Given the description of an element on the screen output the (x, y) to click on. 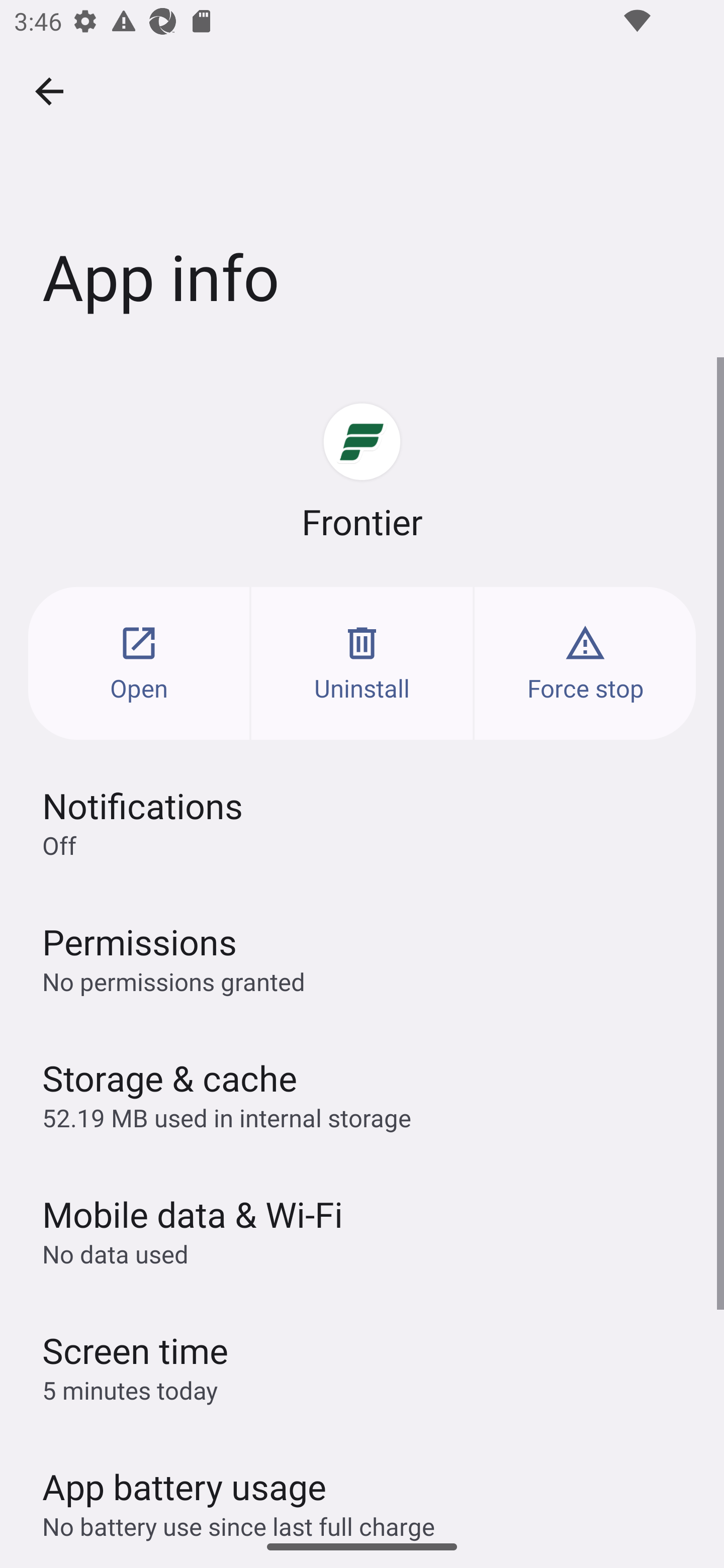
Navigate up (49, 91)
Open (138, 663)
Uninstall (361, 663)
Force stop (584, 663)
Notifications Off (362, 822)
Permissions No permissions granted (362, 957)
Storage & cache 52.19 MB used in internal storage (362, 1093)
Mobile data & Wi‑Fi No data used (362, 1229)
Screen time 5 minutes today (362, 1366)
